Given the description of an element on the screen output the (x, y) to click on. 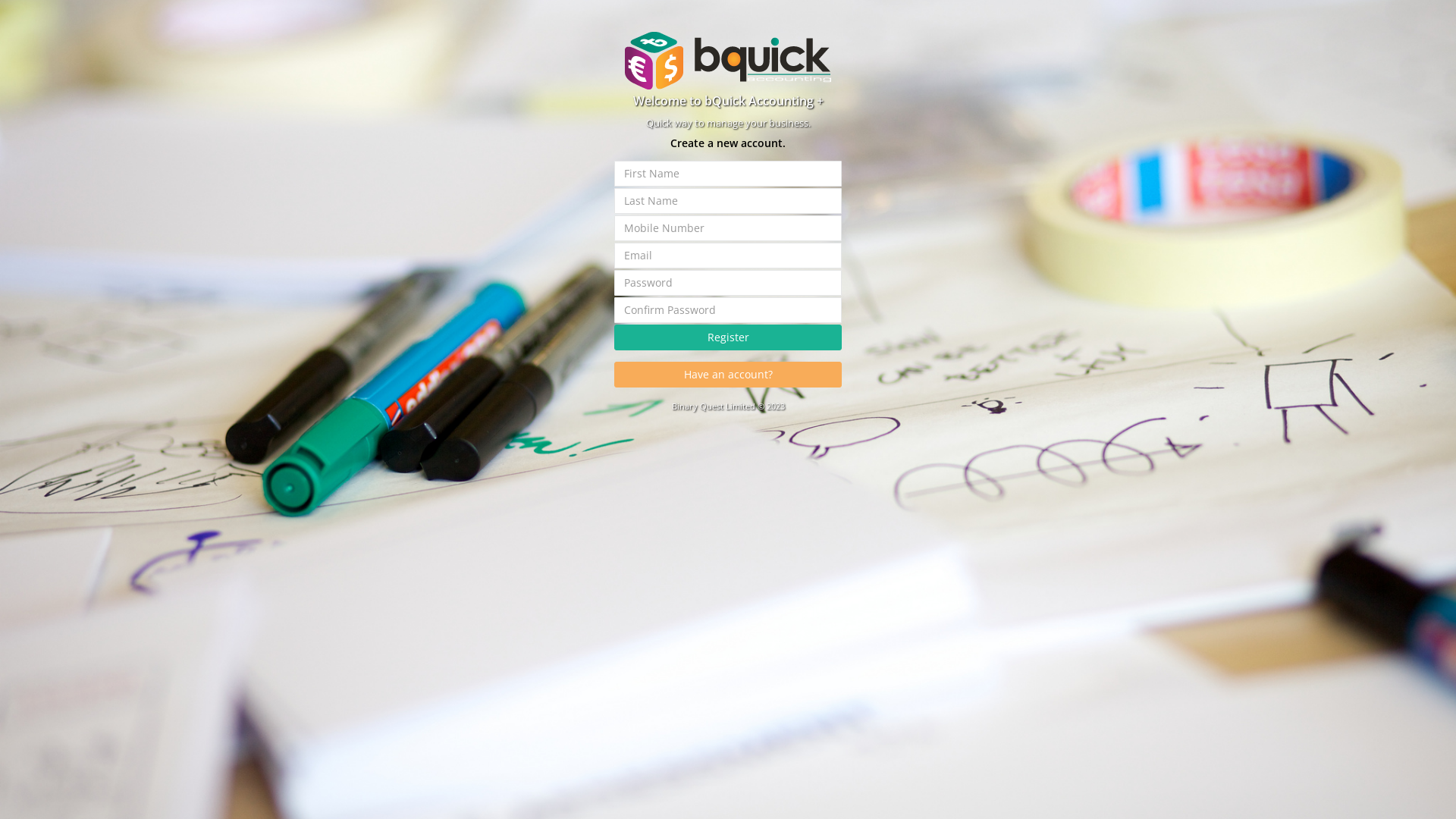
Have an account? Element type: text (727, 374)
Register Element type: text (727, 337)
